Given the description of an element on the screen output the (x, y) to click on. 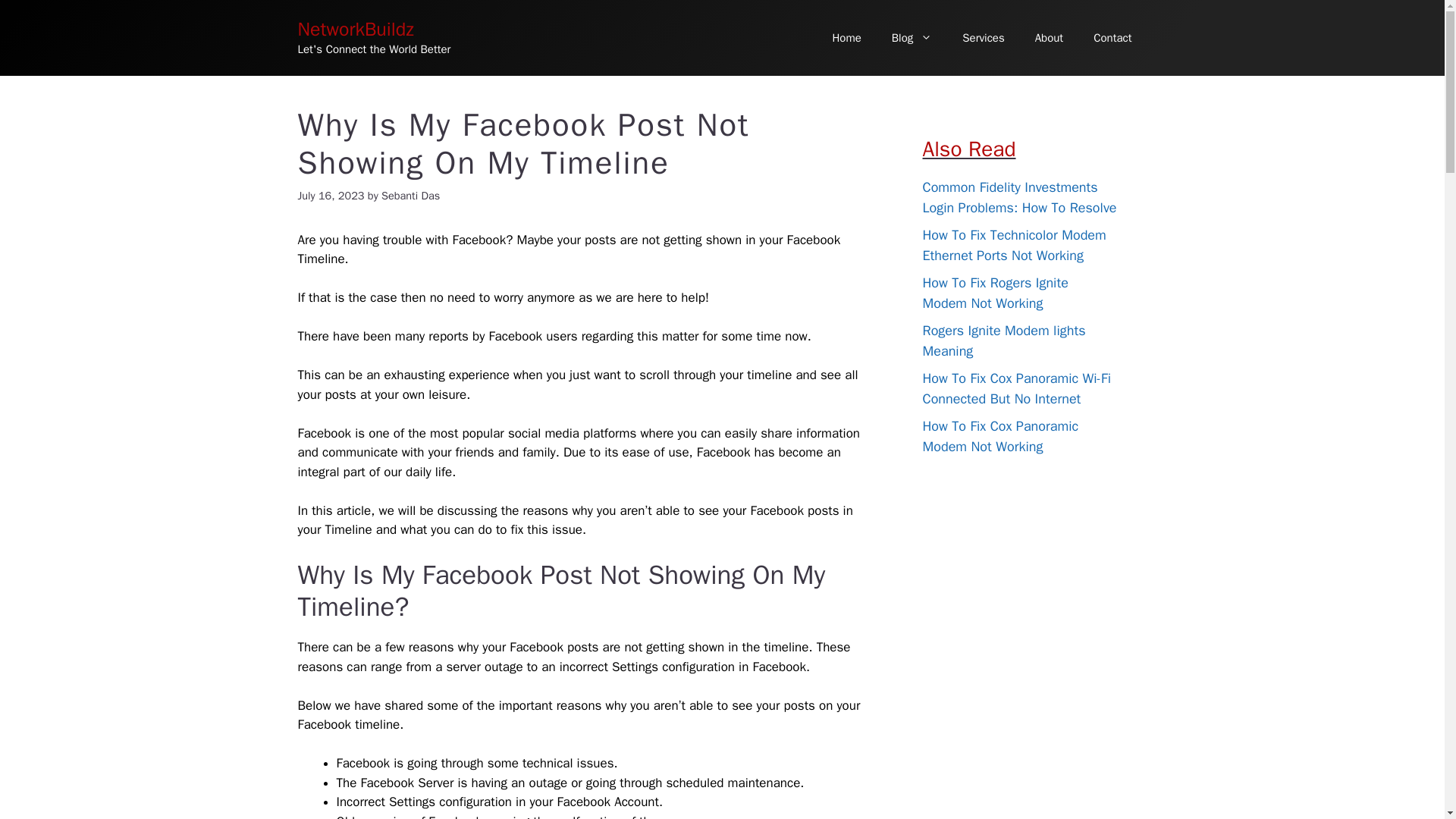
NetworkBuildz (355, 28)
How To Fix Rogers Ignite Modem Not Working (994, 293)
View all posts by Sebanti Das (410, 195)
Blog (911, 37)
Contact (1112, 37)
Rogers Ignite Modem lights Meaning (1002, 340)
Common Fidelity Investments Login Problems: How To Resolve (1018, 197)
Home (846, 37)
How To Fix Cox Panoramic Wi-Fi Connected But No Internet (1015, 388)
How To Fix Cox Panoramic Modem Not Working (999, 436)
Services (983, 37)
About (1049, 37)
How To Fix Technicolor Modem Ethernet Ports Not Working (1013, 244)
Sebanti Das (410, 195)
